Given the description of an element on the screen output the (x, y) to click on. 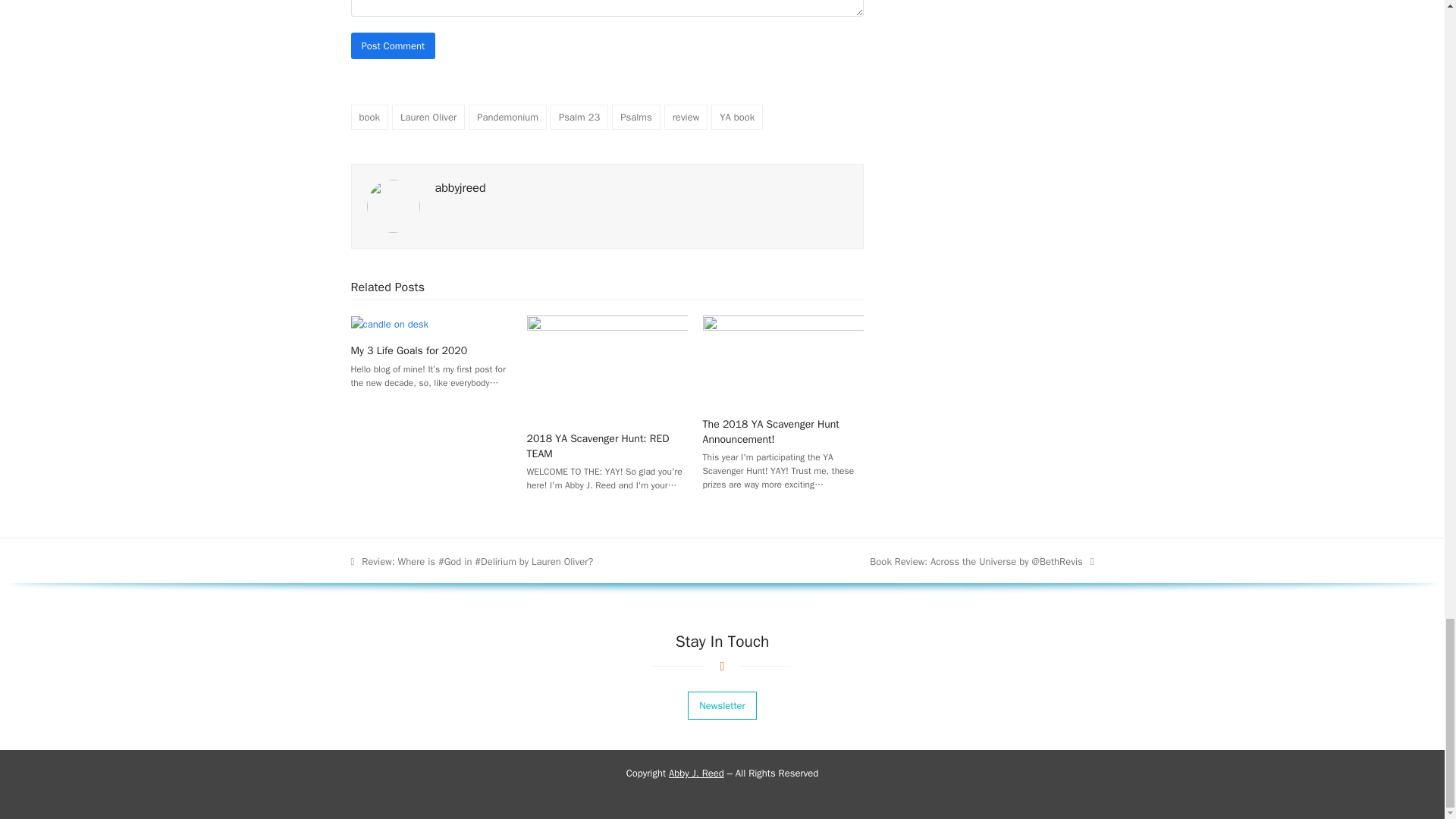
The 2018 YA Scavenger Hunt Announcement! (783, 359)
Newsletter (721, 705)
Visit Author Page (393, 205)
My 3 Life Goals for 2020 (389, 323)
2018 YA Scavenger Hunt: RED TEAM (607, 367)
Visit Author Page (460, 187)
Post Comment (392, 45)
